Given the description of an element on the screen output the (x, y) to click on. 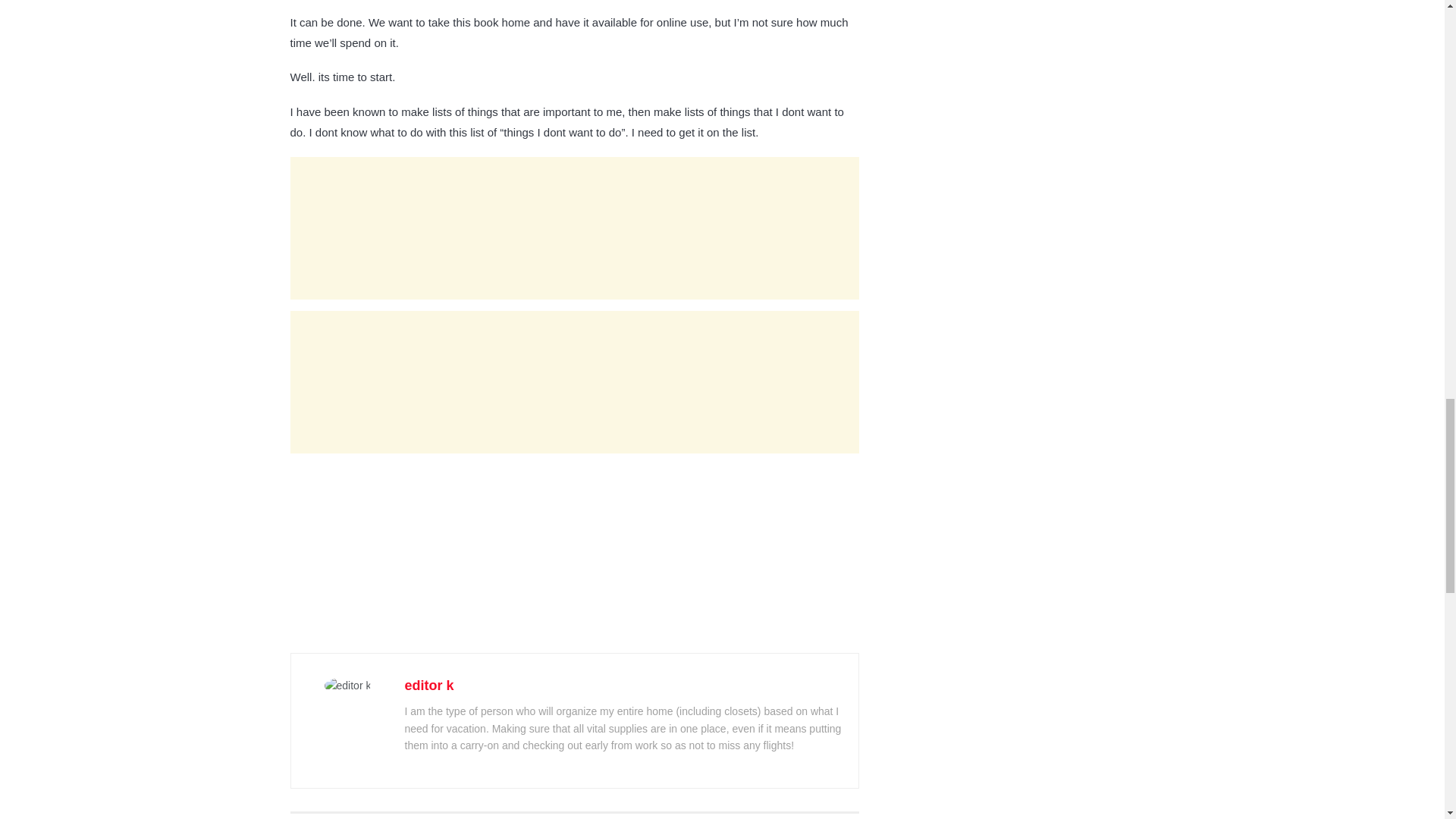
Advertisement (574, 228)
Advertisement (574, 382)
editor k (429, 685)
Advertisement (574, 558)
